Given the description of an element on the screen output the (x, y) to click on. 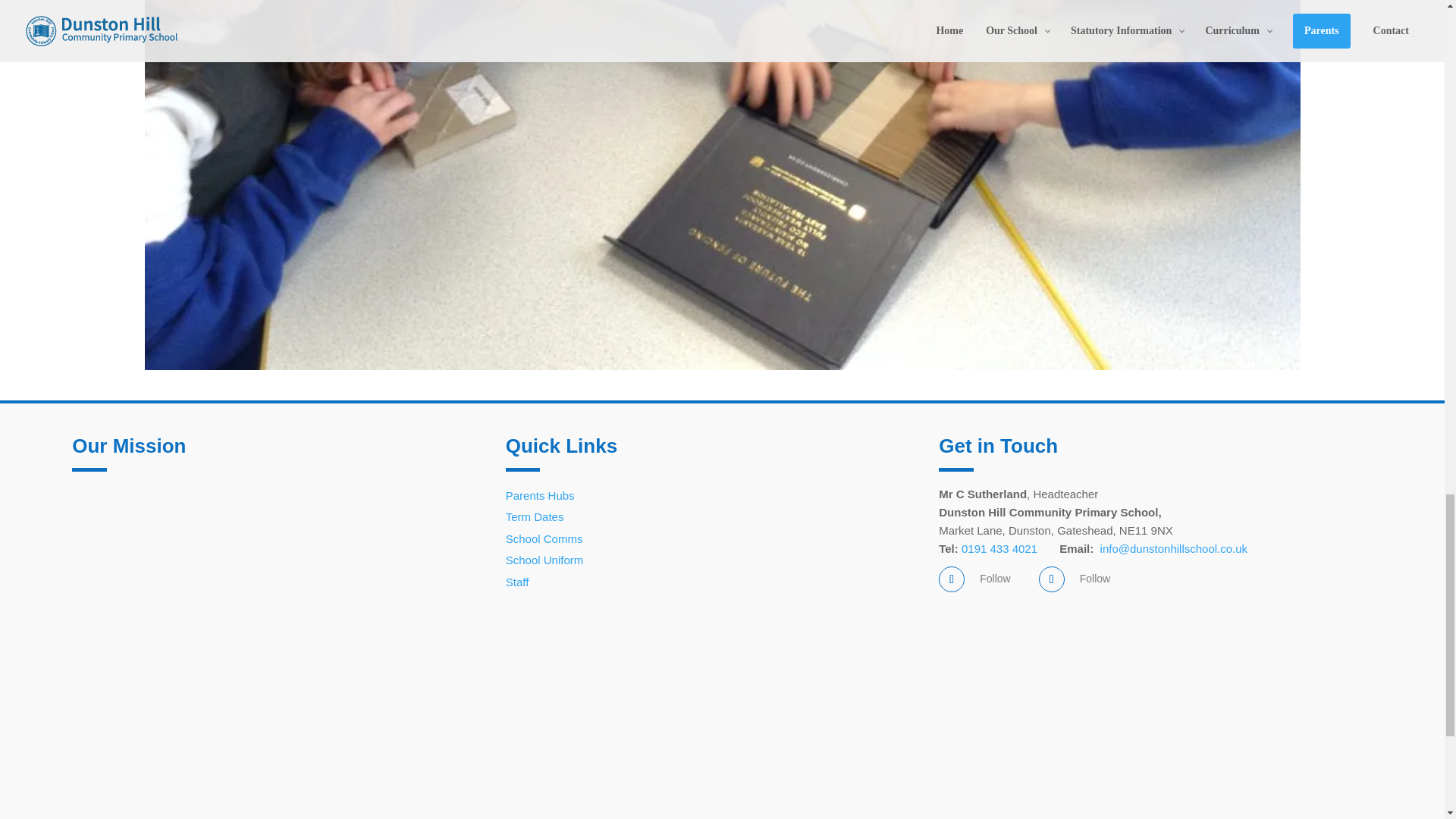
Follow on Youtube (1051, 579)
Youtube (1094, 578)
Facebook (995, 578)
Follow on Facebook (951, 579)
